Given the description of an element on the screen output the (x, y) to click on. 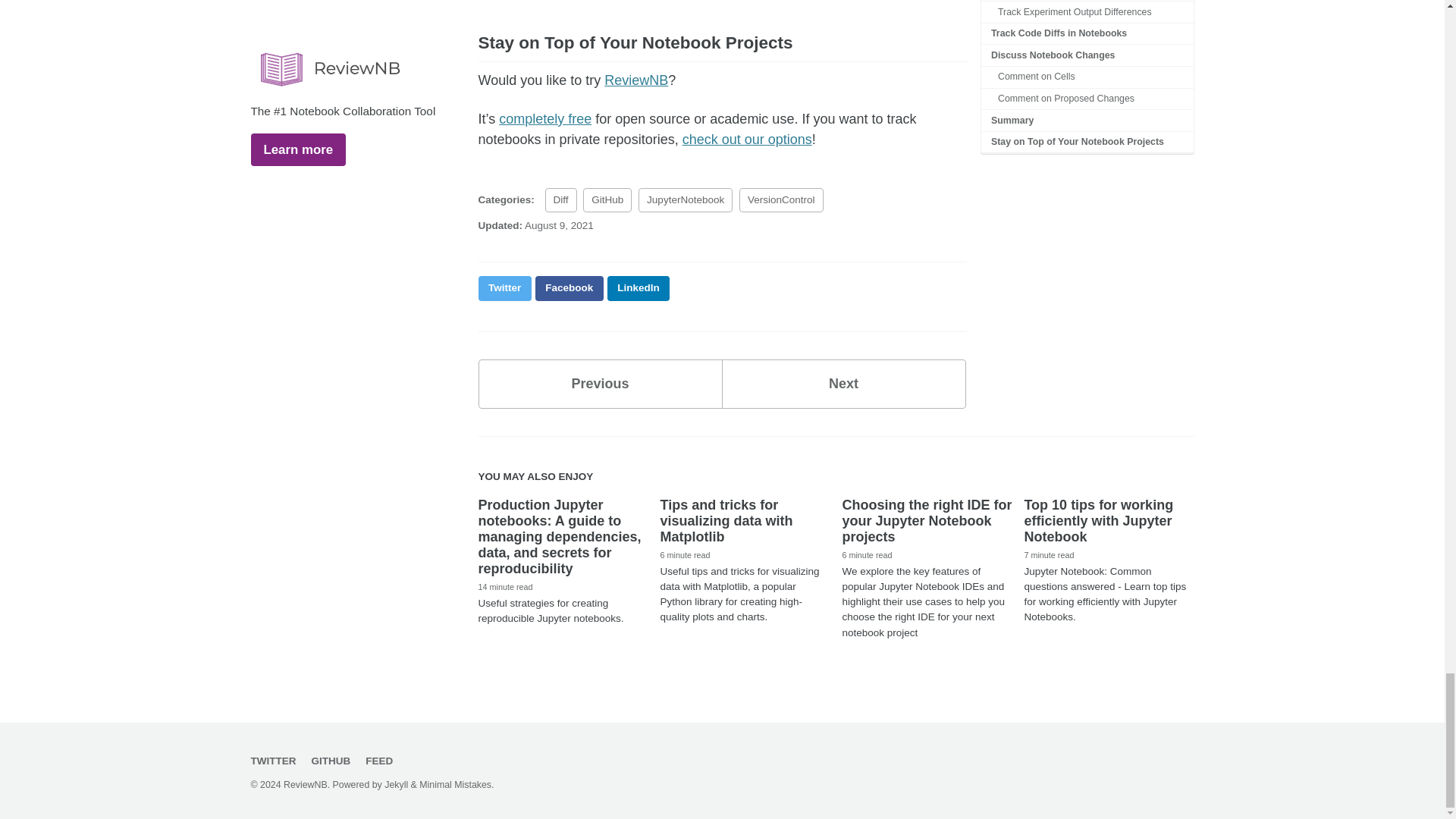
Share on Twitter (599, 383)
Share on LinkedIn (504, 289)
Share on Facebook (638, 289)
ReviewNB (569, 289)
